Given the description of an element on the screen output the (x, y) to click on. 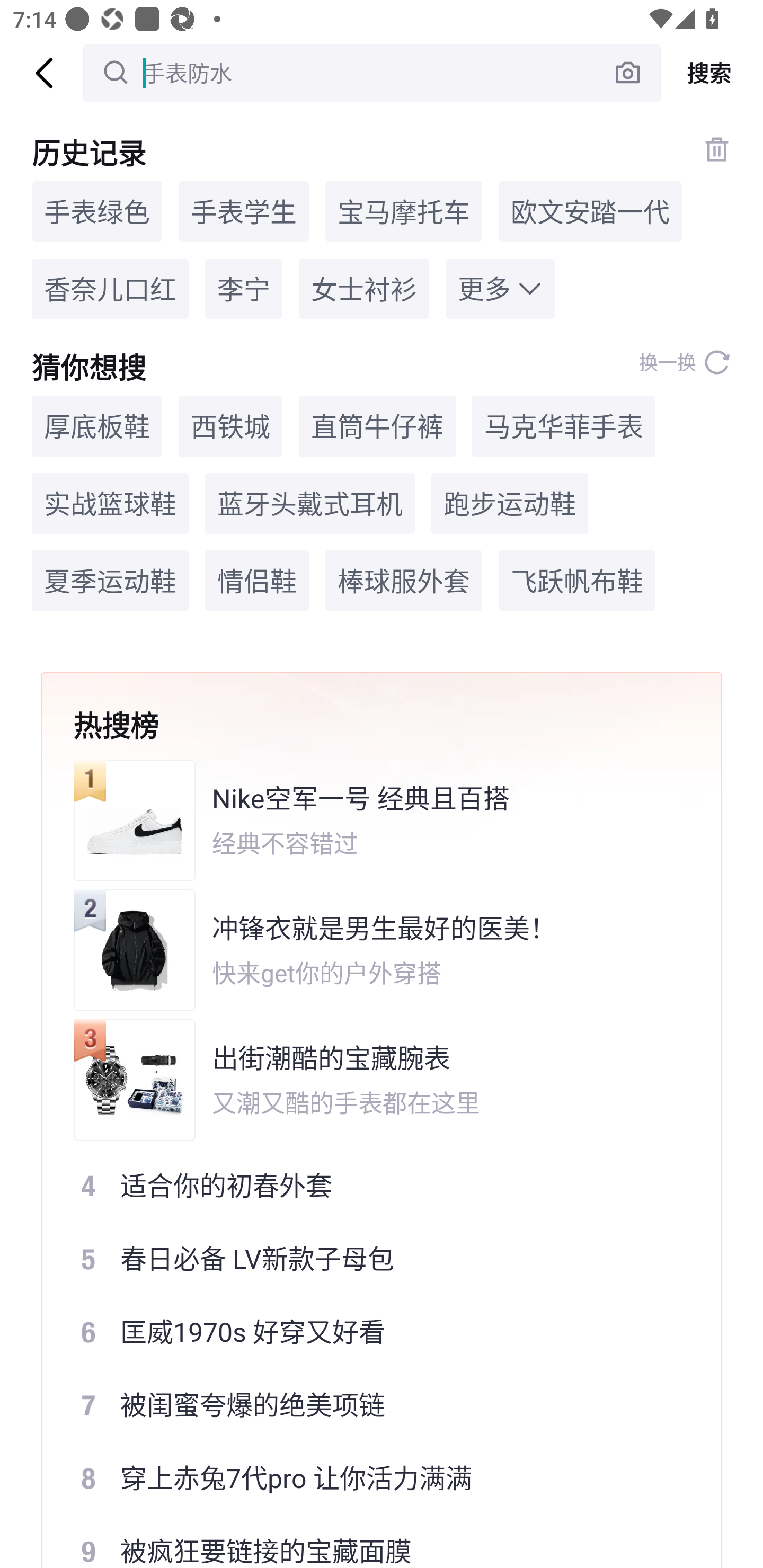
搜索 (712, 72)
手表防水 (371, 72)
手表绿色 (96, 211)
手表学生 (243, 211)
宝马摩托车 (403, 211)
欧文安踏一代 (590, 211)
香奈儿口红 (110, 288)
李宁 (243, 288)
女士衬衫 (363, 288)
更多  (500, 288)
换一换 (684, 362)
厚底板鞋 (96, 425)
西铁城 (230, 425)
直筒牛仔裤 (377, 425)
马克华菲手表 (563, 425)
实战篮球鞋 (110, 503)
蓝牙头戴式耳机 (310, 503)
跑步运动鞋 (509, 503)
夏季运动鞋 (110, 580)
情侣鞋 (257, 580)
棒球服外套 (403, 580)
飞跃帆布鞋 (576, 580)
Nike空军一号 经典且百搭 经典不容错过 (369, 819)
冲锋衣就是男生最好的医美！ 快来get你的户外穿搭 (369, 950)
出街潮酷的宝藏腕表 又潮又酷的手表都在这里 (369, 1080)
4 适合你的初春外套 (369, 1185)
5 春日必备 LV新款子母包 (369, 1258)
6 匡威1970s 好穿又好看 (369, 1331)
7 被闺蜜夸爆的绝美项链 (369, 1404)
8 穿上赤兔7代pro 让你活力满满 (369, 1477)
9 被疯狂要链接的宝藏面膜 (369, 1541)
